Given the description of an element on the screen output the (x, y) to click on. 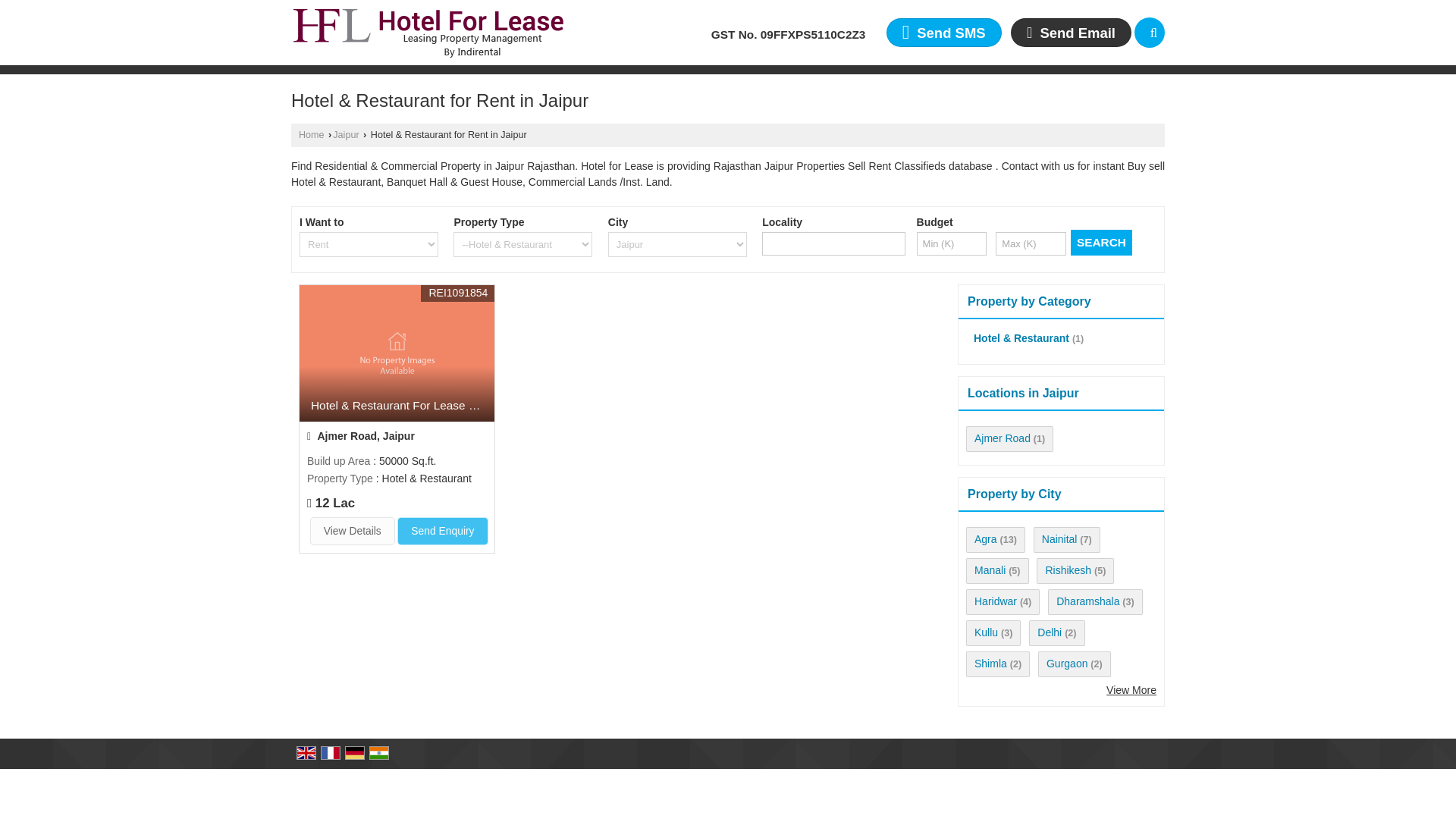
Search (1149, 32)
Send Email (1070, 31)
Send SMS (943, 31)
Home (311, 134)
Jaipur (345, 134)
SEARCH (1101, 242)
Hotel for Lease (427, 32)
